Given the description of an element on the screen output the (x, y) to click on. 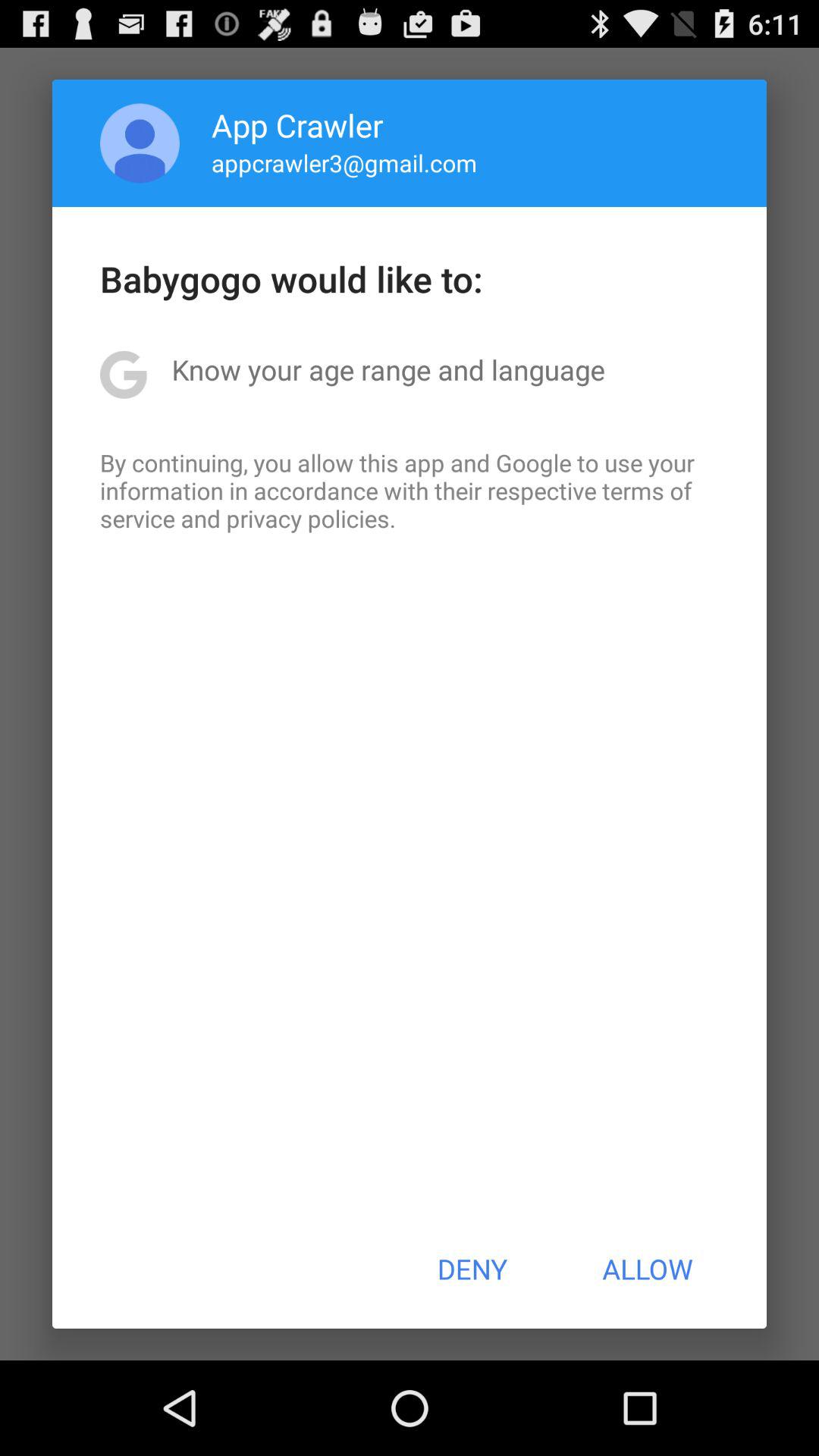
launch item above babygogo would like (139, 143)
